Given the description of an element on the screen output the (x, y) to click on. 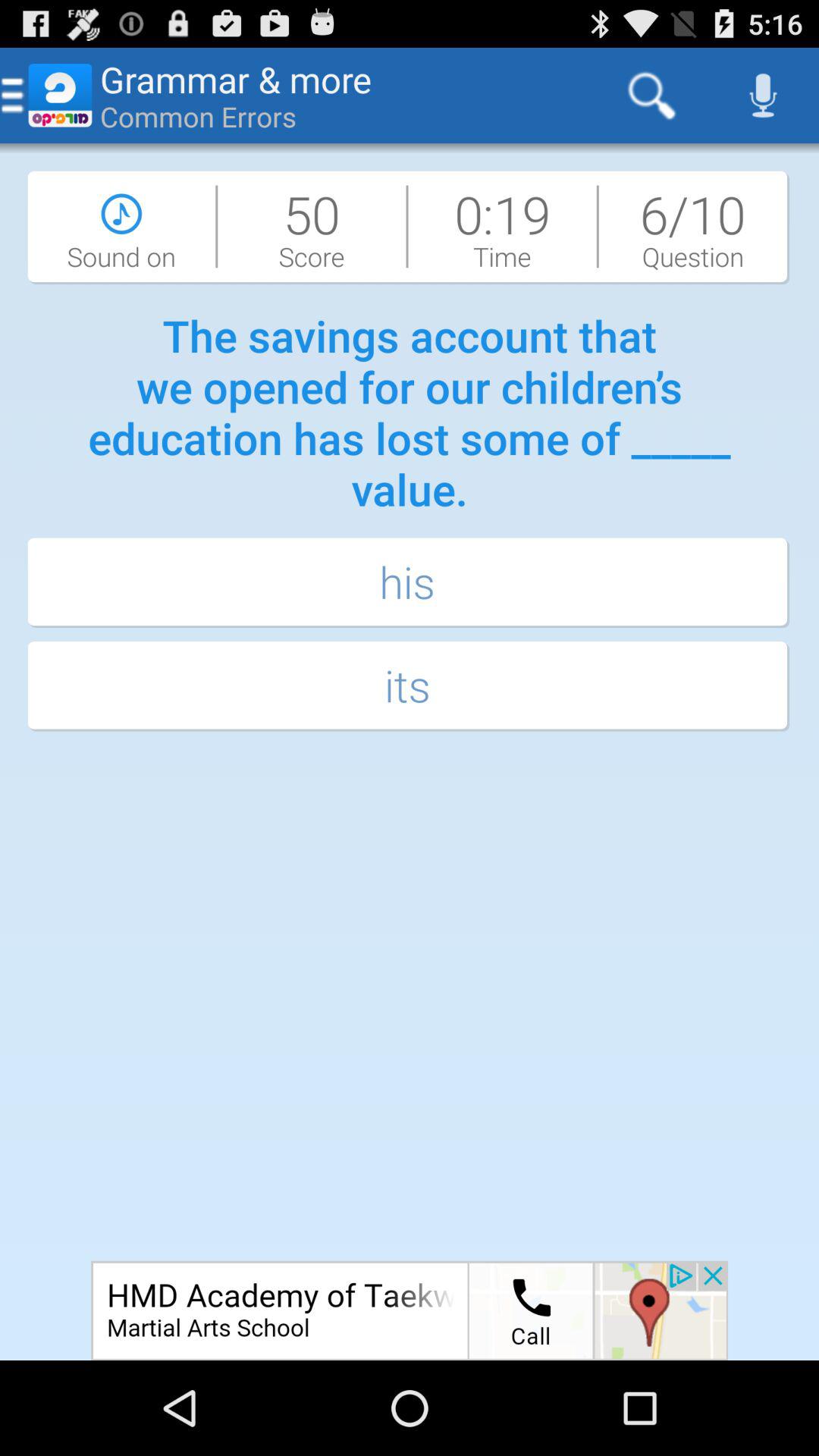
open app to the right of the grammar & more icon (651, 95)
